Given the description of an element on the screen output the (x, y) to click on. 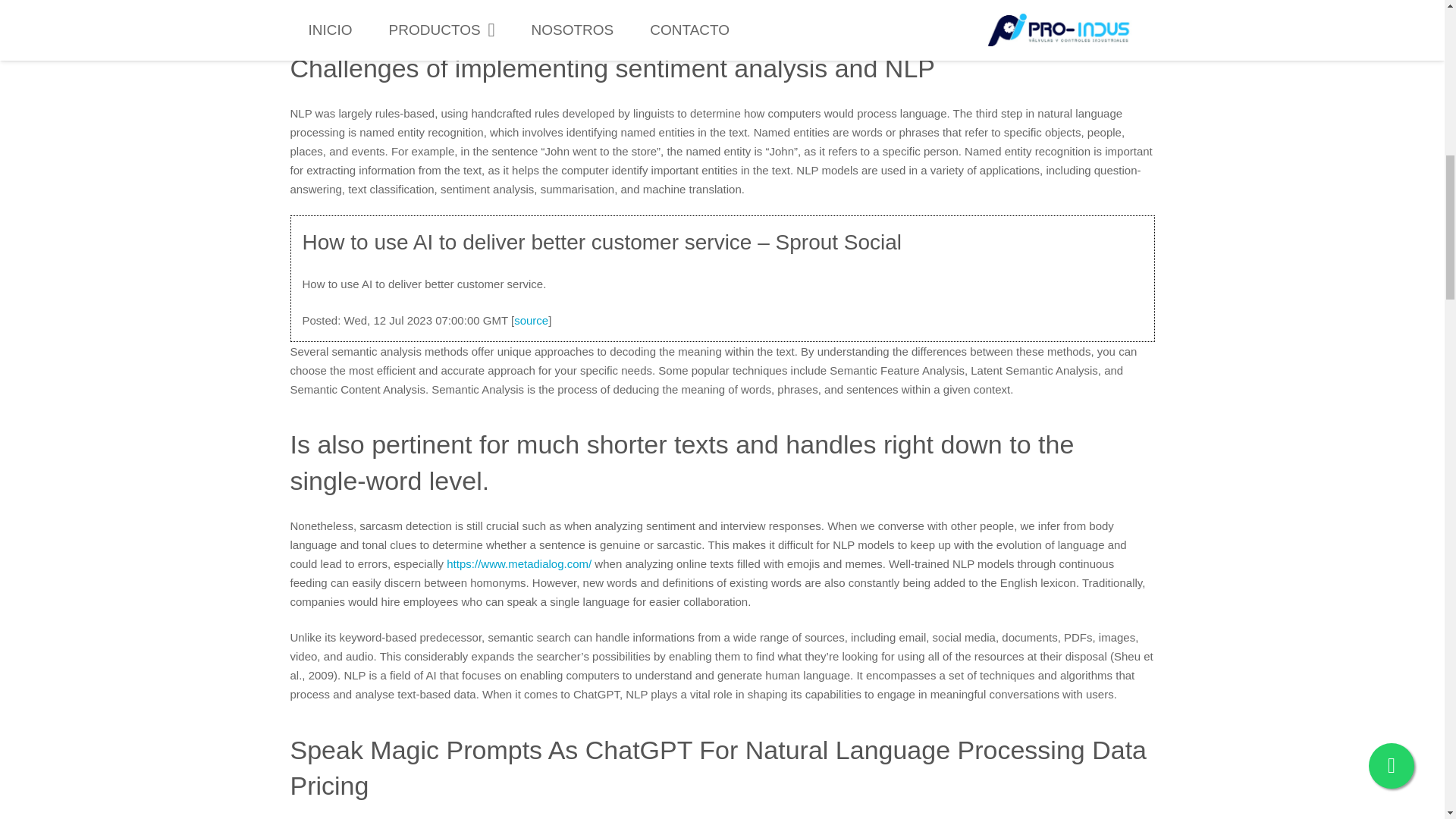
Volver arriba (1413, 26)
